Given the description of an element on the screen output the (x, y) to click on. 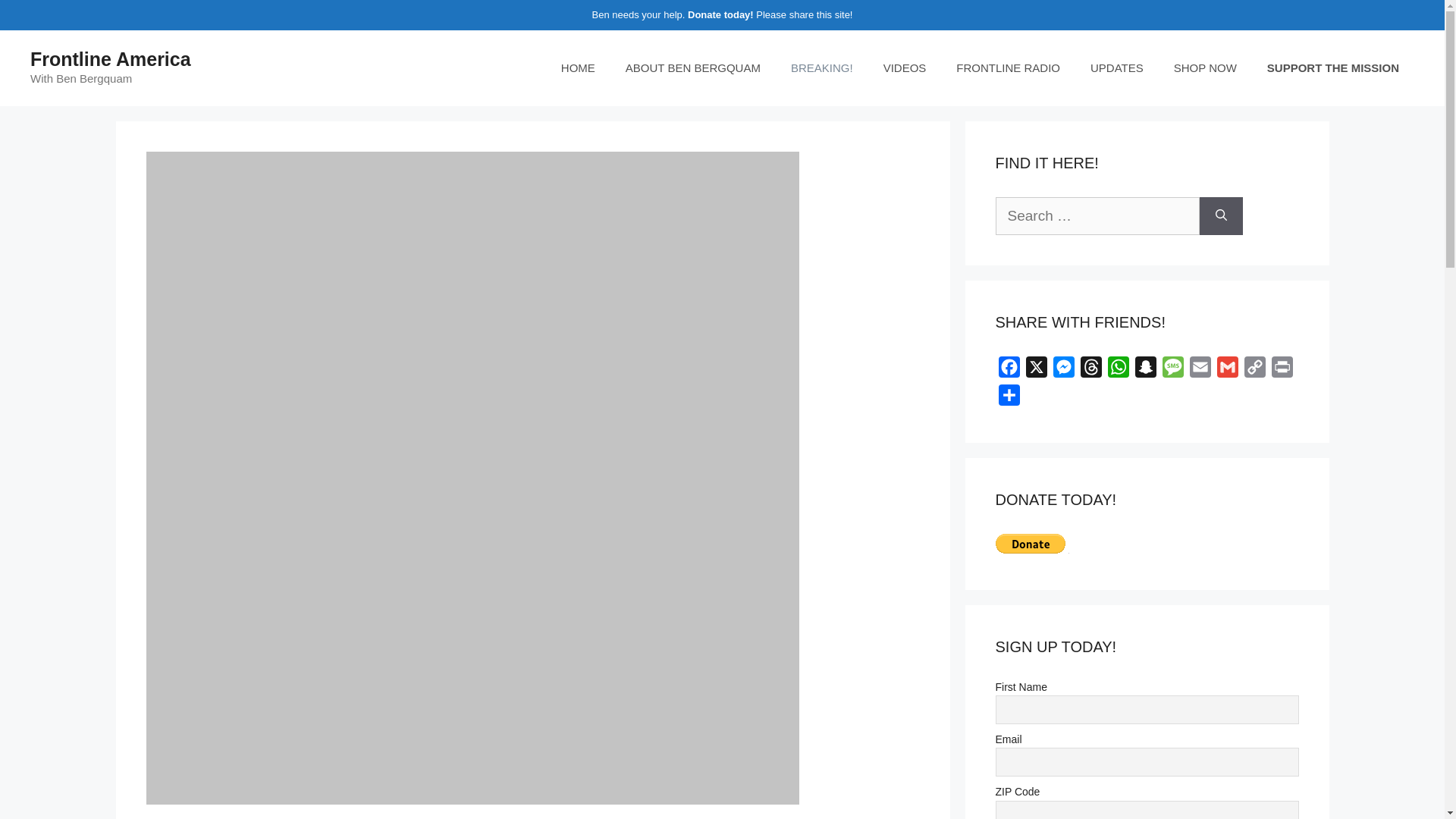
Frontline America With Ben Bergquam (578, 67)
ABOUT BEN BERGQUAM (693, 67)
BREAKING! (821, 67)
Facebook (1008, 370)
Donate today (718, 14)
VIDEOS (904, 67)
Breaking News Feed With Ben Bergquam (821, 67)
Please donate today to keep Ben on the road! (1332, 67)
HOME (578, 67)
Get updates from Ben Bergquam (1116, 67)
